Given the description of an element on the screen output the (x, y) to click on. 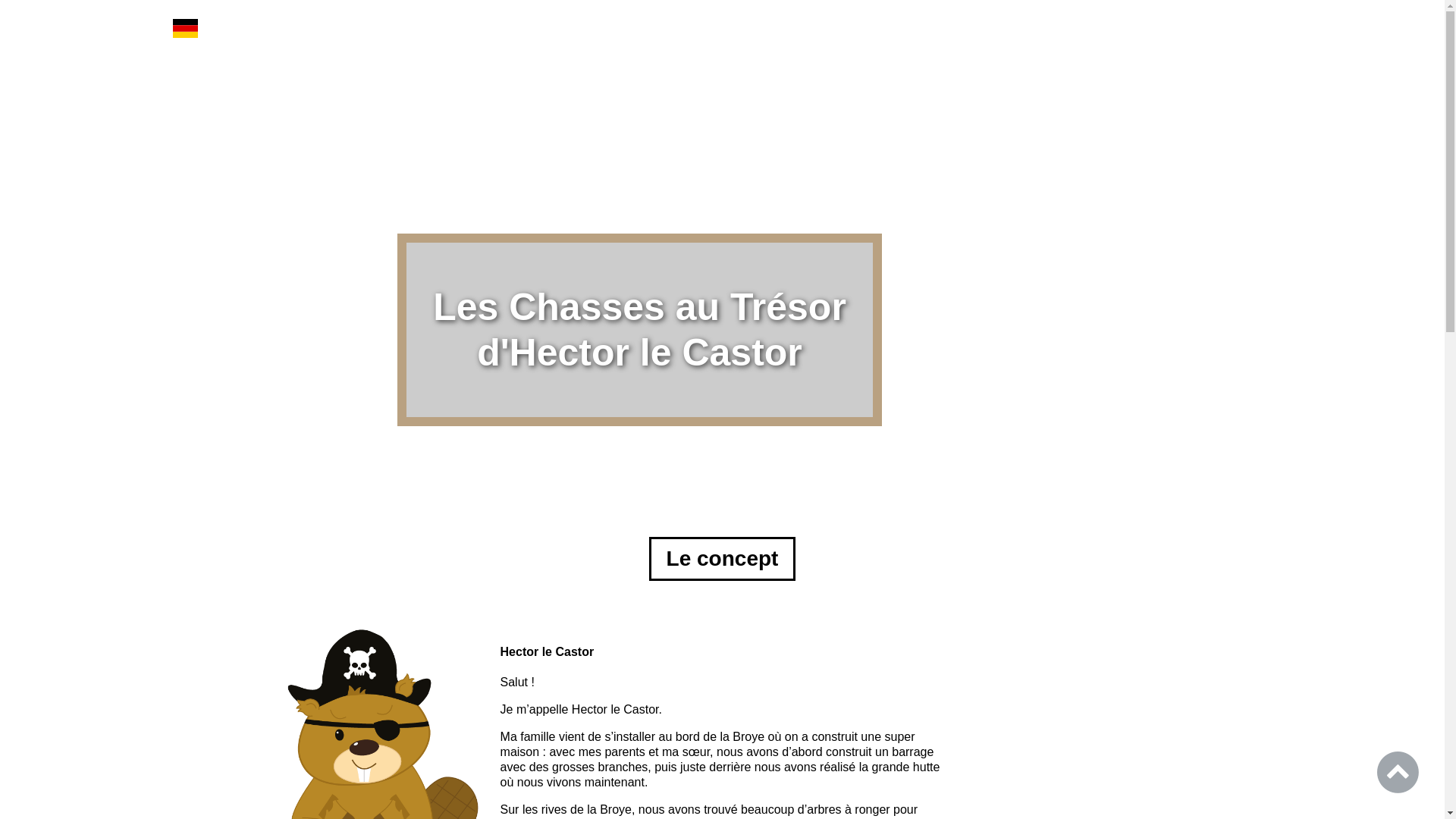
ACCUEIL Element type: text (1013, 26)
